Given the description of an element on the screen output the (x, y) to click on. 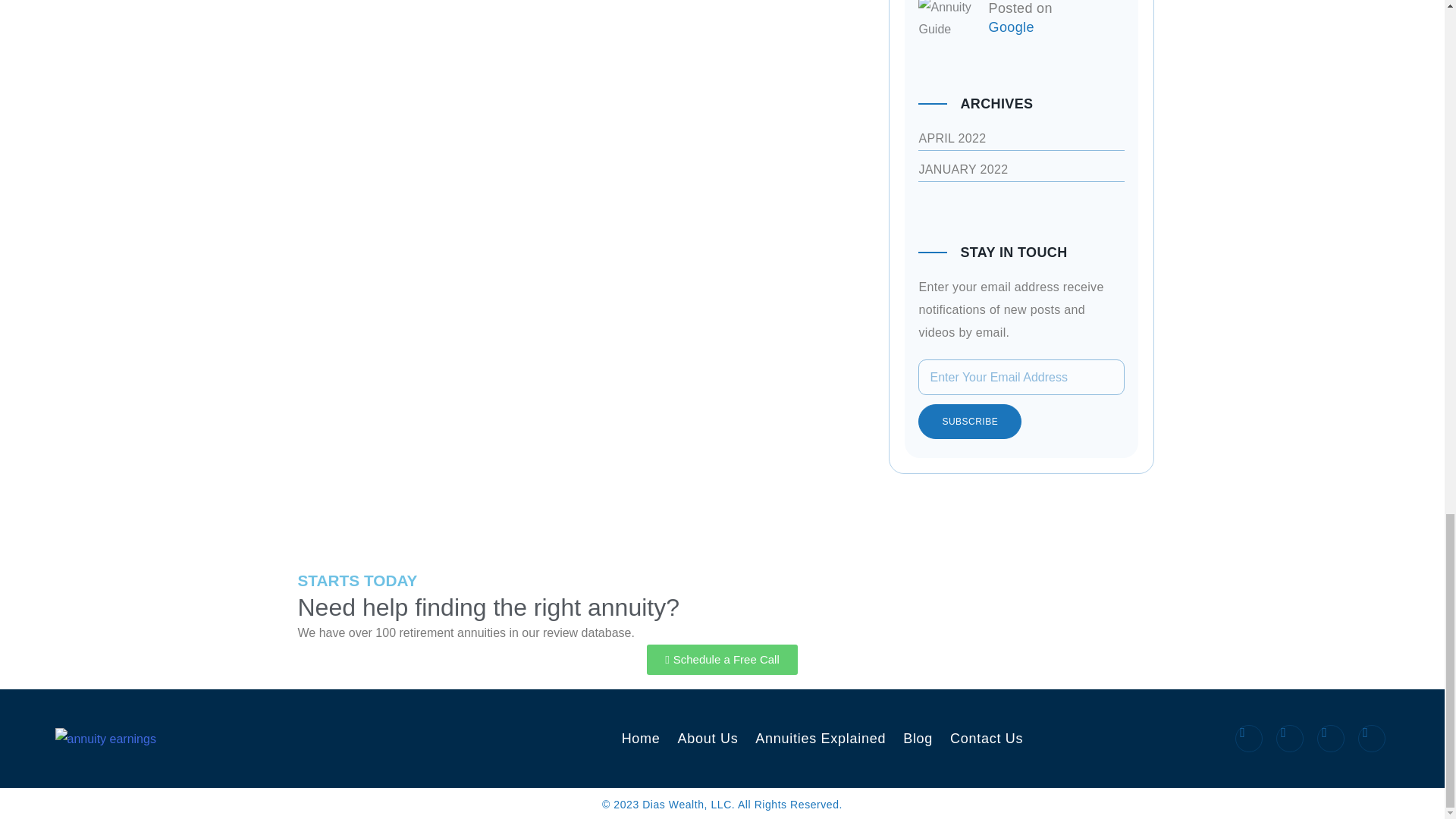
APRIL 2022 (951, 137)
Blog (917, 738)
Subscribe (970, 421)
Schedule a Free Call (721, 659)
Home (641, 738)
About Us (708, 738)
Annuities Explained (820, 738)
JANUARY 2022 (962, 169)
Contact Us (986, 738)
Subscribe (970, 421)
